Given the description of an element on the screen output the (x, y) to click on. 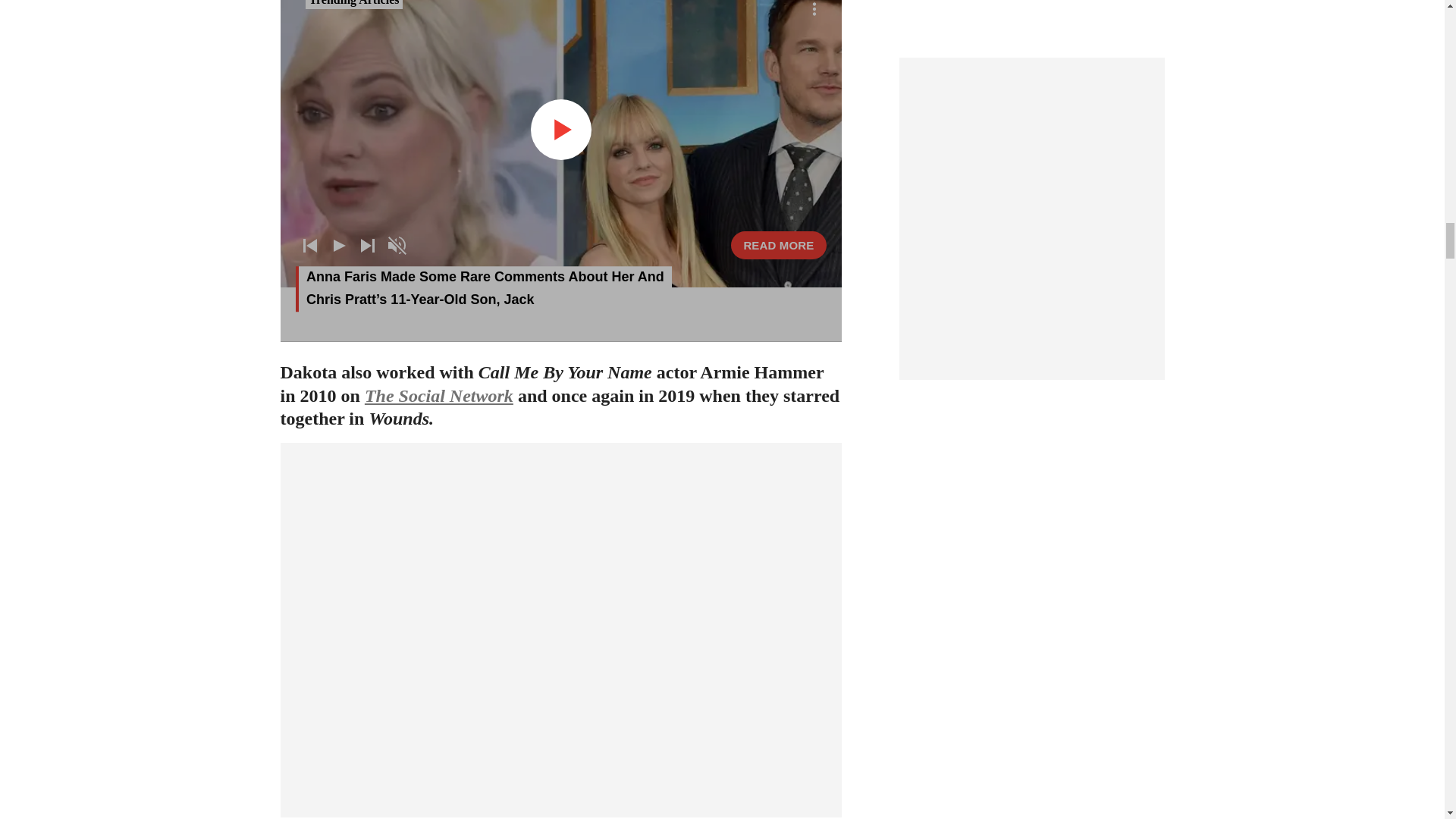
The Social Network (439, 395)
READ MORE (777, 244)
